Given the description of an element on the screen output the (x, y) to click on. 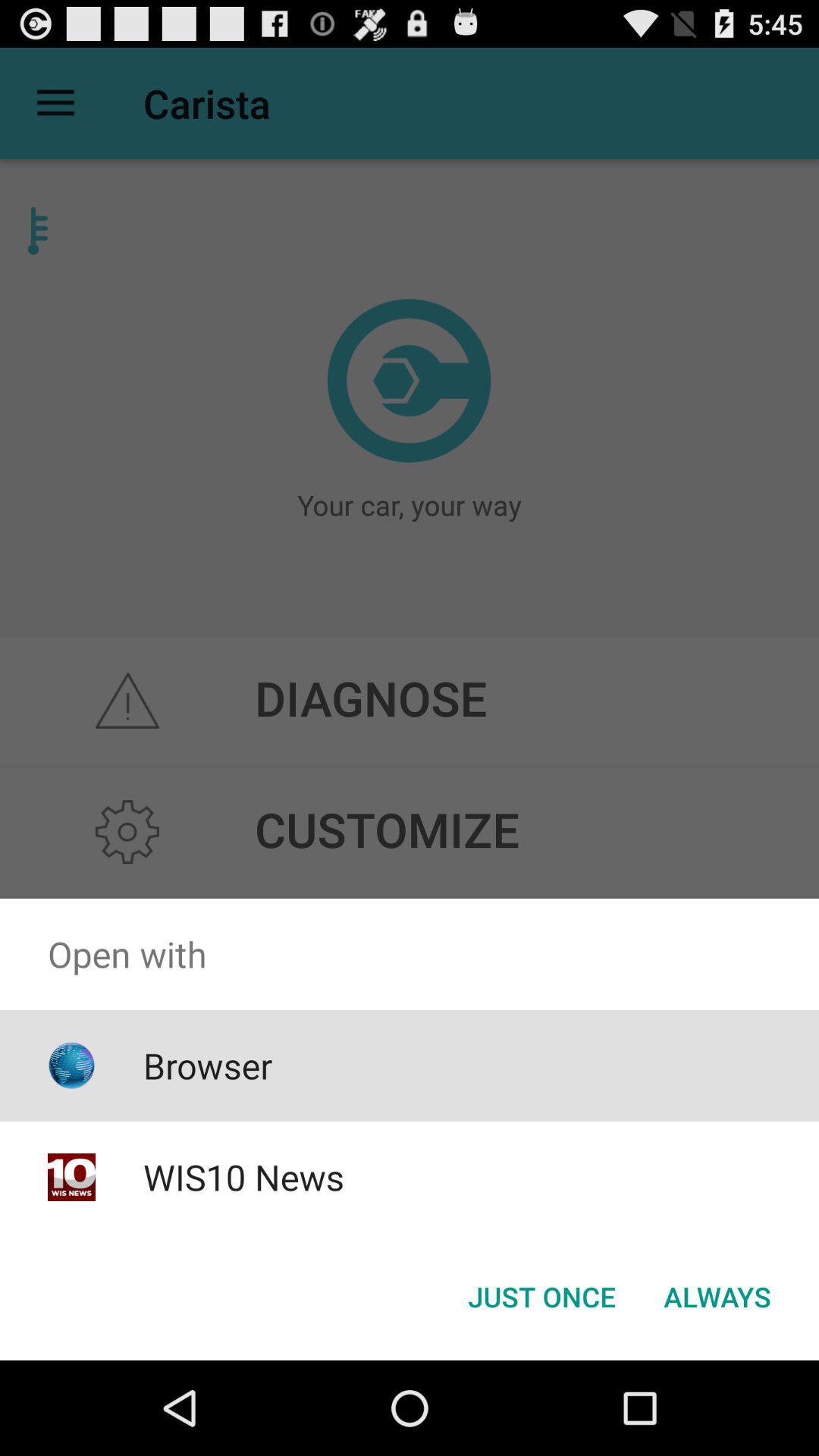
press the button to the right of the just once item (717, 1296)
